Given the description of an element on the screen output the (x, y) to click on. 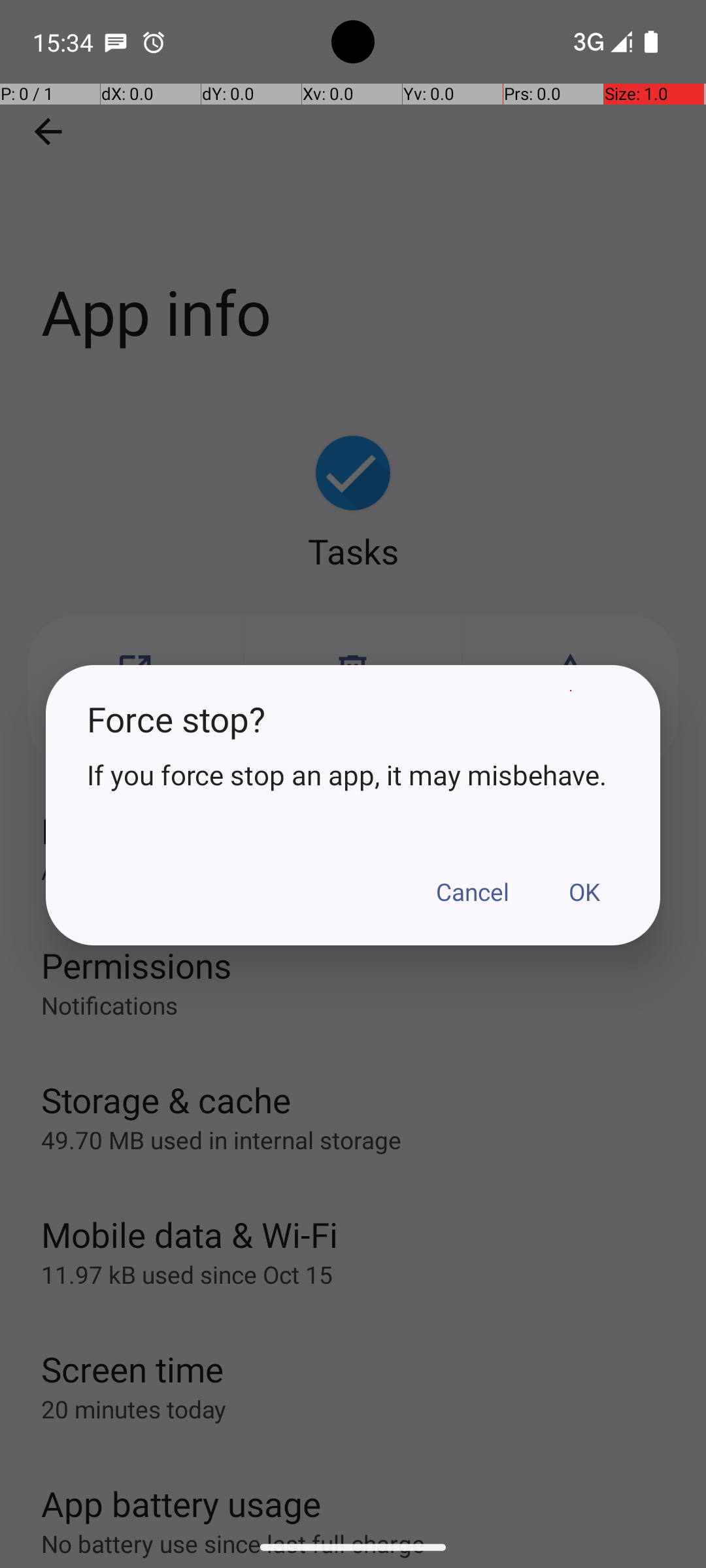
Force stop? Element type: android.widget.TextView (352, 718)
If you force stop an app, it may misbehave. Element type: android.widget.TextView (352, 774)
